Given the description of an element on the screen output the (x, y) to click on. 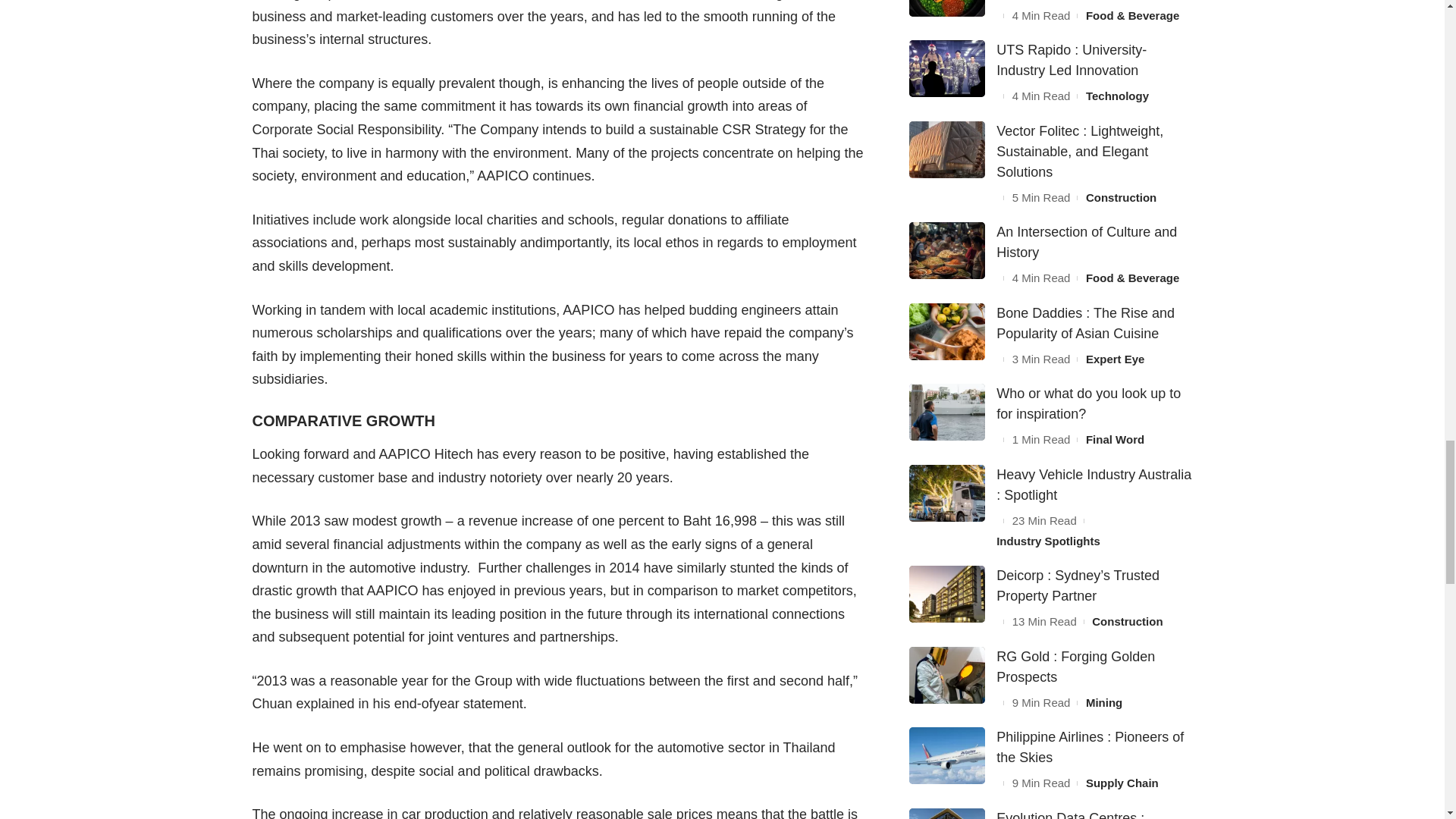
UTS Rapido : University-Industry Led Innovation (946, 68)
OUE Restaurants : Bestowing Culinary Pleasures (946, 8)
